Given the description of an element on the screen output the (x, y) to click on. 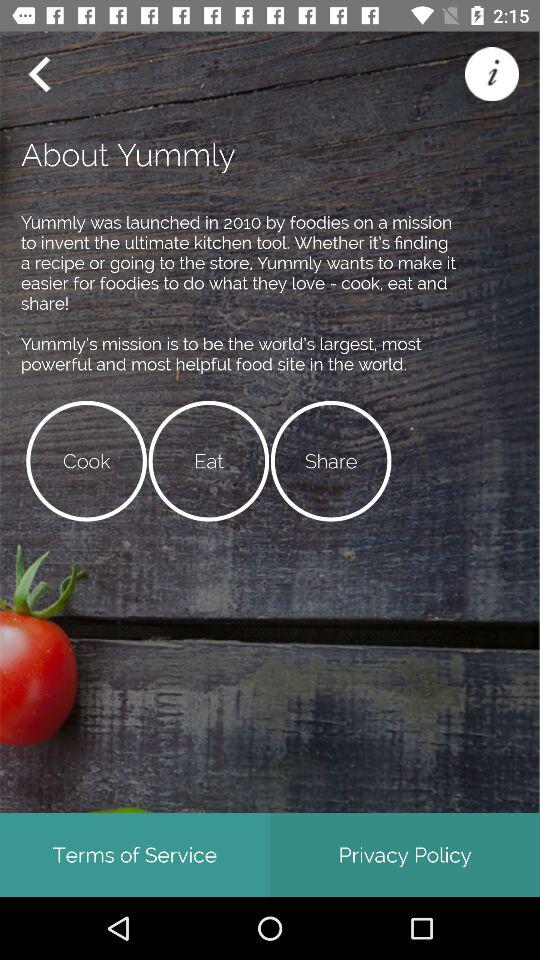
information symbol (492, 74)
